Given the description of an element on the screen output the (x, y) to click on. 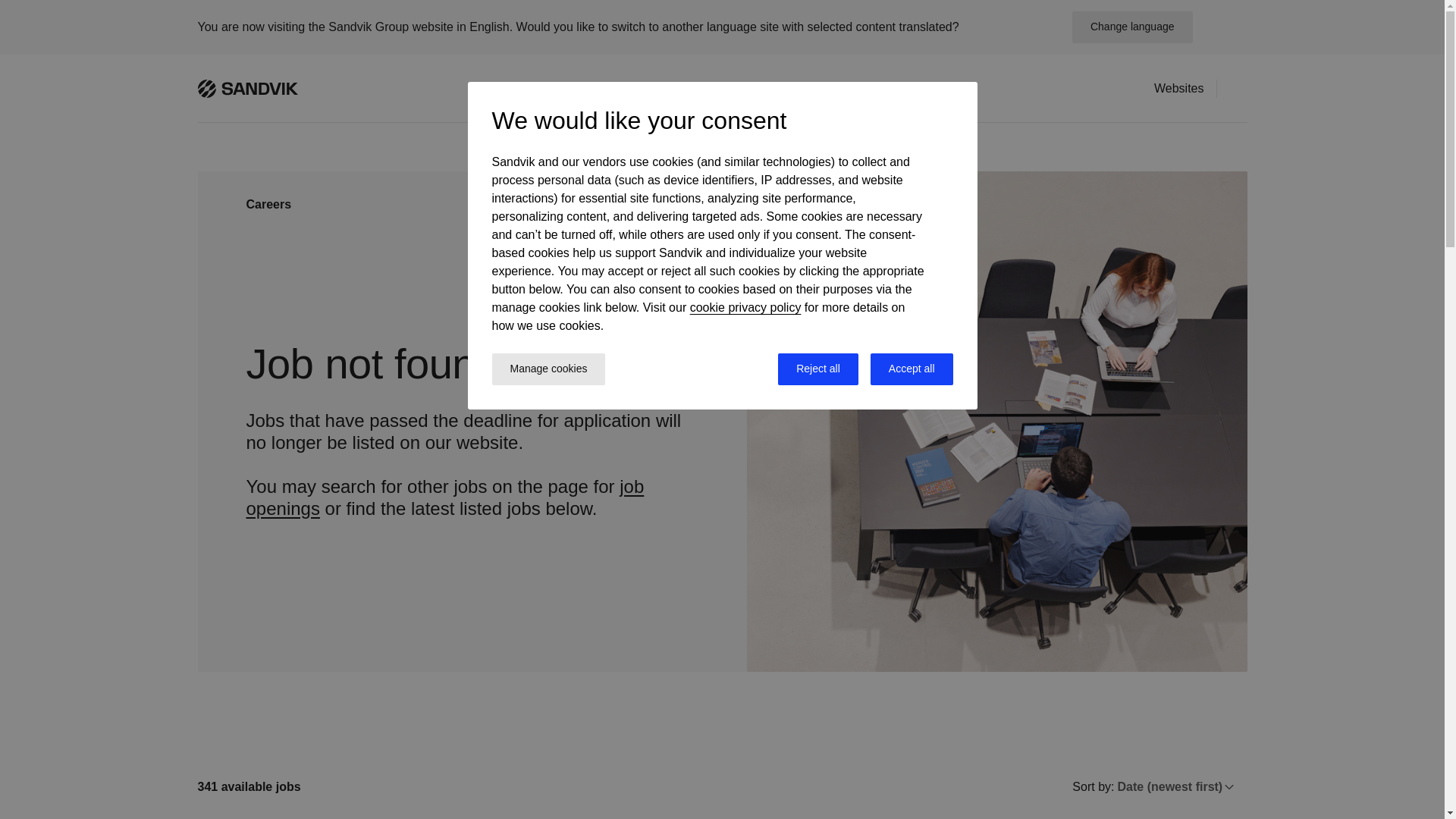
Careers (692, 87)
About us (926, 87)
Offerings (548, 87)
Change language (1131, 27)
job openings (444, 496)
Stories (860, 87)
Investors (622, 87)
Websites (1179, 87)
Search (1237, 87)
Close (1225, 26)
